Given the description of an element on the screen output the (x, y) to click on. 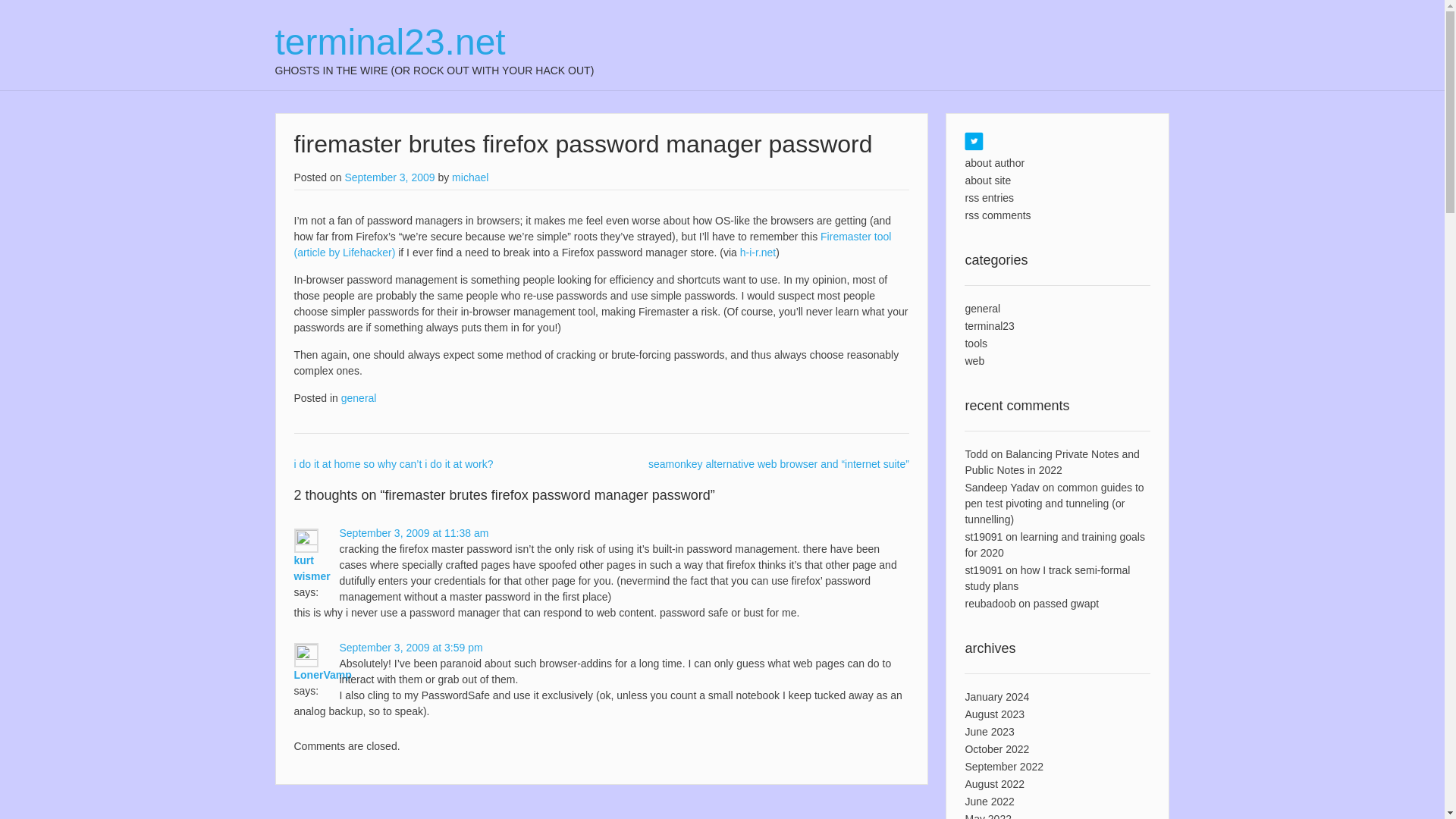
September 3, 2009 at 11:38 am (414, 532)
Sandeep Yadav (1001, 487)
August 2023 (994, 714)
October 2022 (996, 748)
michael (469, 177)
September 3, 2009 at 3:59 pm (411, 647)
rss entries (988, 197)
tools (975, 343)
about site (986, 180)
Balancing Private Notes and Public Notes in 2022 (1050, 461)
